Given the description of an element on the screen output the (x, y) to click on. 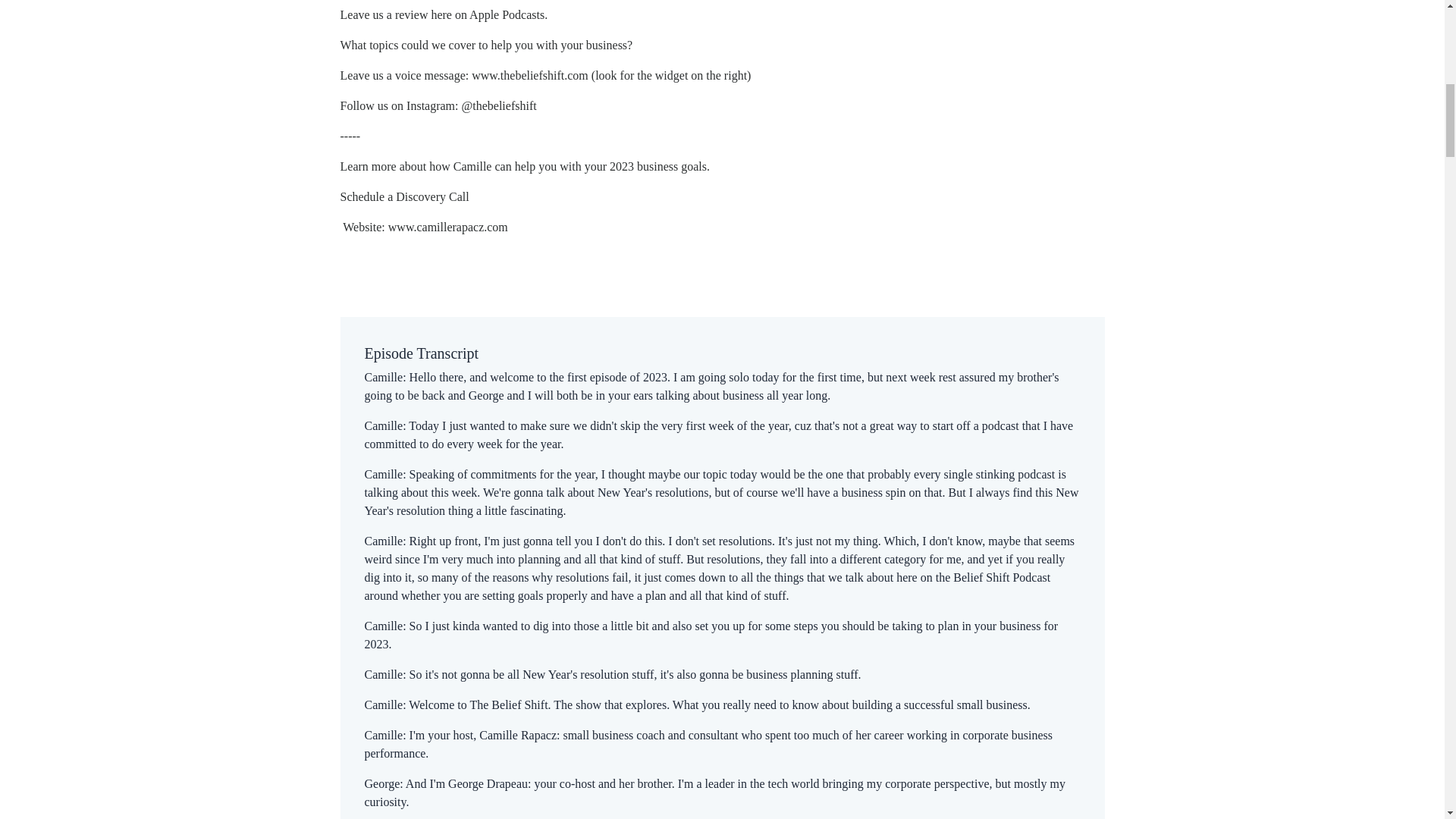
www.thebeliefshift.com (529, 74)
here on Apple Podcasts (487, 14)
www.camillerapacz.com (448, 226)
Schedule a Discovery Call (403, 196)
